Given the description of an element on the screen output the (x, y) to click on. 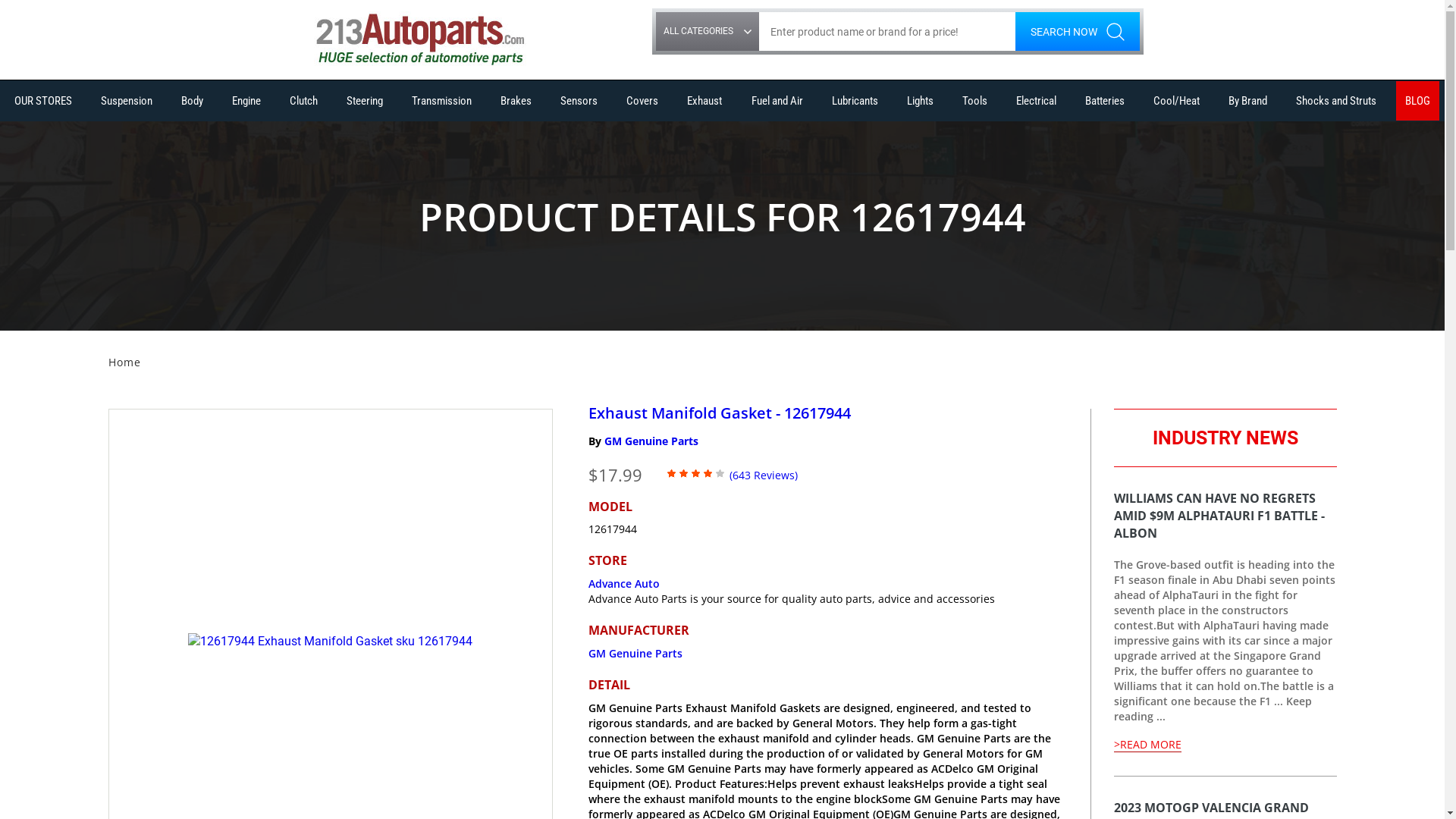
Exhaust Manifold Gasket - 12617944 Element type: text (719, 411)
GM Genuine Parts Element type: text (635, 653)
Lights Element type: text (919, 100)
OUR STORES Element type: text (43, 100)
Shocks and Struts Element type: text (1335, 100)
Home Element type: text (123, 361)
Electrical Element type: text (1036, 100)
Body Element type: text (192, 100)
Exhaust Element type: text (704, 100)
Clutch Element type: text (303, 100)
Cool/Heat Element type: text (1176, 100)
Tools Element type: text (974, 100)
Batteries Element type: text (1104, 100)
Engine Element type: text (245, 100)
Advance Auto Element type: text (623, 583)
213autoparts.com Element type: hover (418, 39)
BLOG Element type: text (1417, 100)
Fuel and Air Element type: text (777, 100)
>READ MORE Element type: text (1146, 744)
img Element type: hover (722, 217)
(643 Reviews) Element type: text (763, 474)
Search now Element type: text (1076, 31)
Covers Element type: text (642, 100)
Suspension Element type: text (126, 100)
Sensors Element type: text (578, 100)
Brakes Element type: text (515, 100)
Steering Element type: text (364, 100)
12617944 Exhaust Manifold Gasket sku 12617944 Element type: hover (330, 641)
GM Genuine Parts Element type: text (650, 440)
Lubricants Element type: text (854, 100)
Transmission Element type: text (441, 100)
By Brand Element type: text (1247, 100)
